Given the description of an element on the screen output the (x, y) to click on. 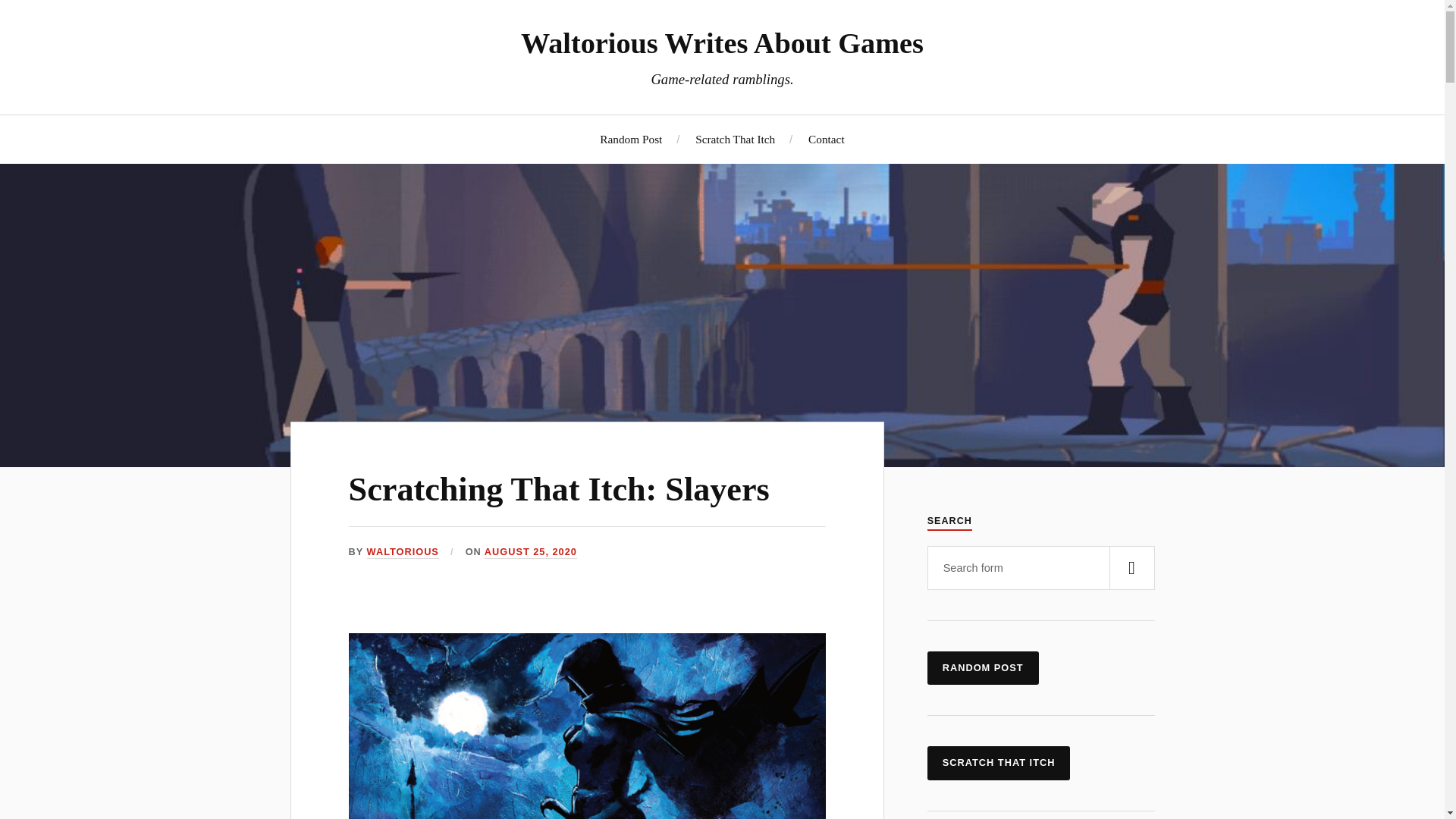
Maximum gloom. (587, 726)
WALTORIOUS (402, 552)
Waltorious Writes About Games (722, 42)
AUGUST 25, 2020 (530, 552)
Scratch That Itch (734, 138)
Posts by waltorious (402, 552)
Scratching That Itch: Slayers (559, 488)
Random Post (630, 138)
